Given the description of an element on the screen output the (x, y) to click on. 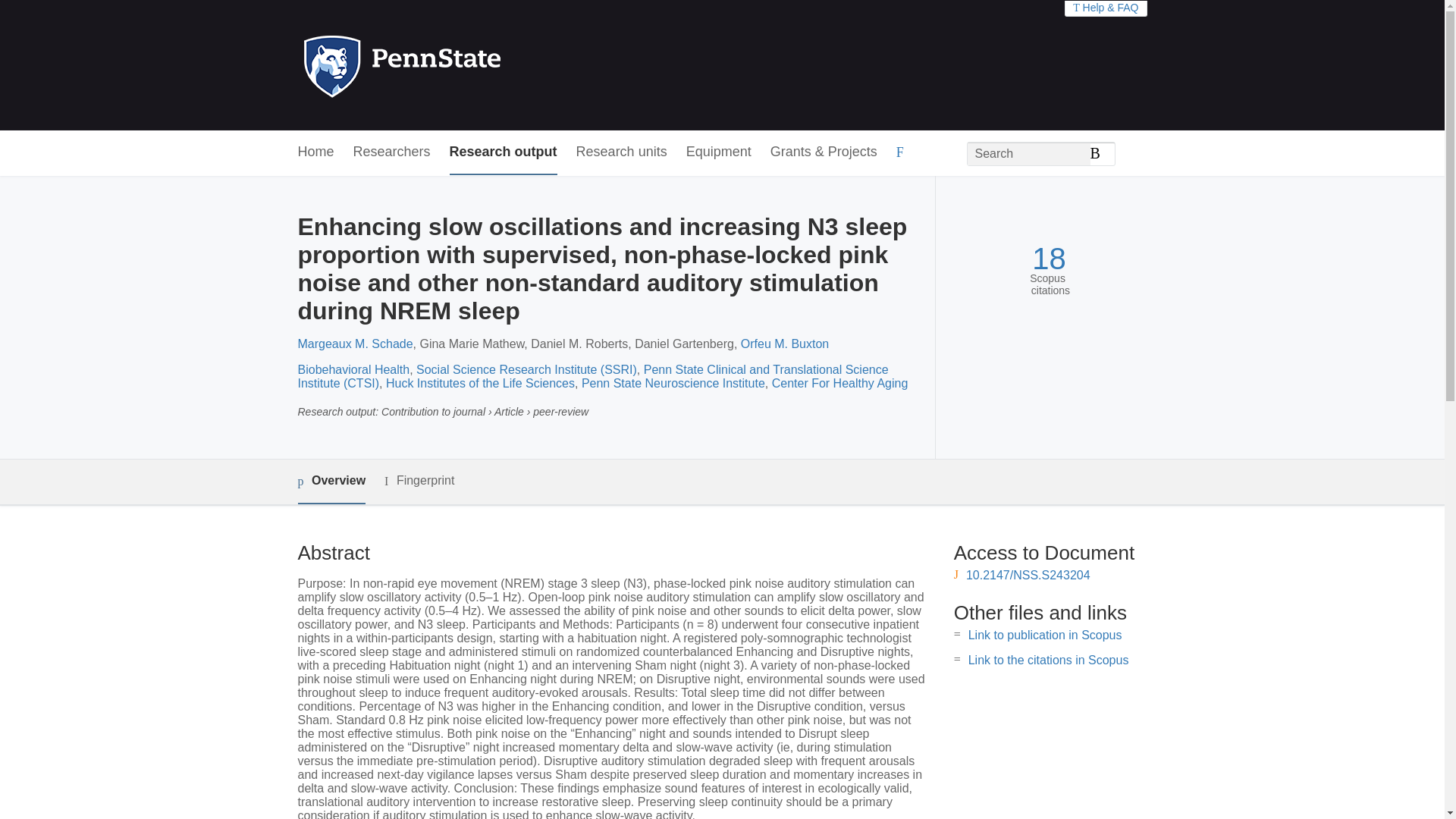
Biobehavioral Health (353, 369)
Center For Healthy Aging (839, 382)
Huck Institutes of the Life Sciences (480, 382)
Equipment (718, 152)
Link to publication in Scopus (1045, 634)
Penn State Home (467, 65)
Overview (331, 481)
Link to the citations in Scopus (1048, 659)
Orfeu M. Buxton (785, 343)
